Given the description of an element on the screen output the (x, y) to click on. 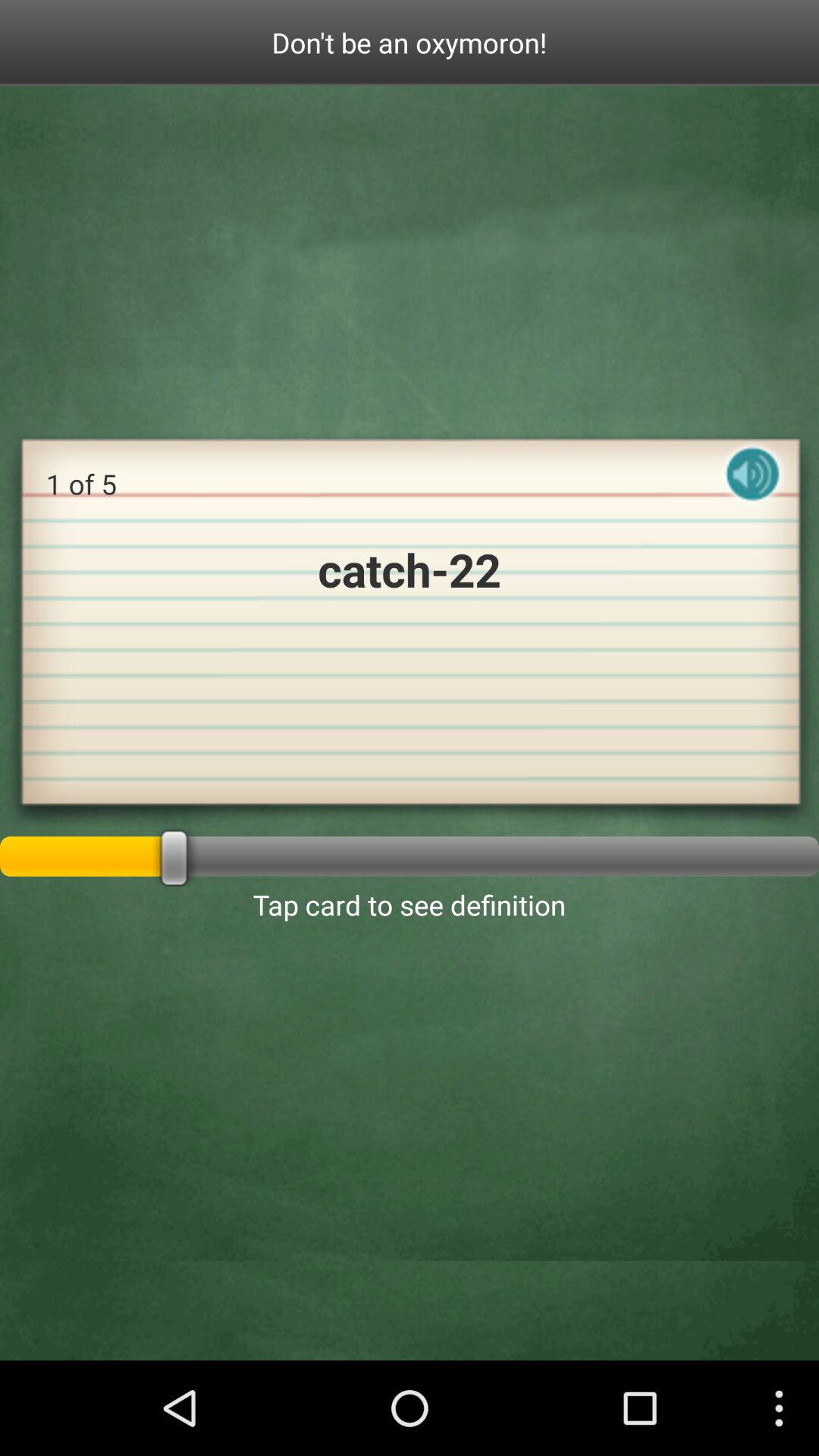
toggle audio (752, 486)
